Given the description of an element on the screen output the (x, y) to click on. 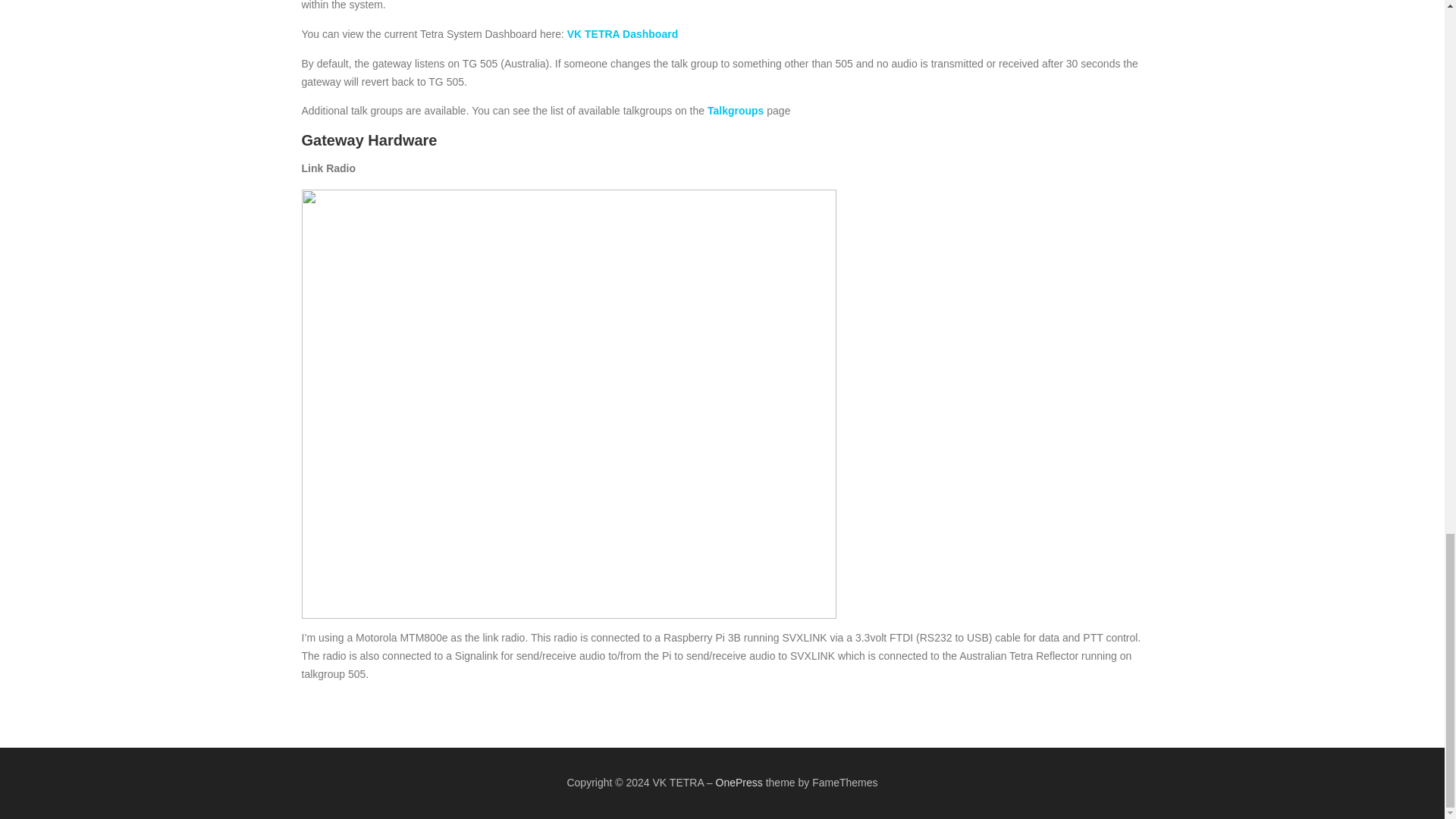
Talkgroups (734, 110)
OnePress (739, 782)
VK TETRA Dashboard (622, 33)
